Given the description of an element on the screen output the (x, y) to click on. 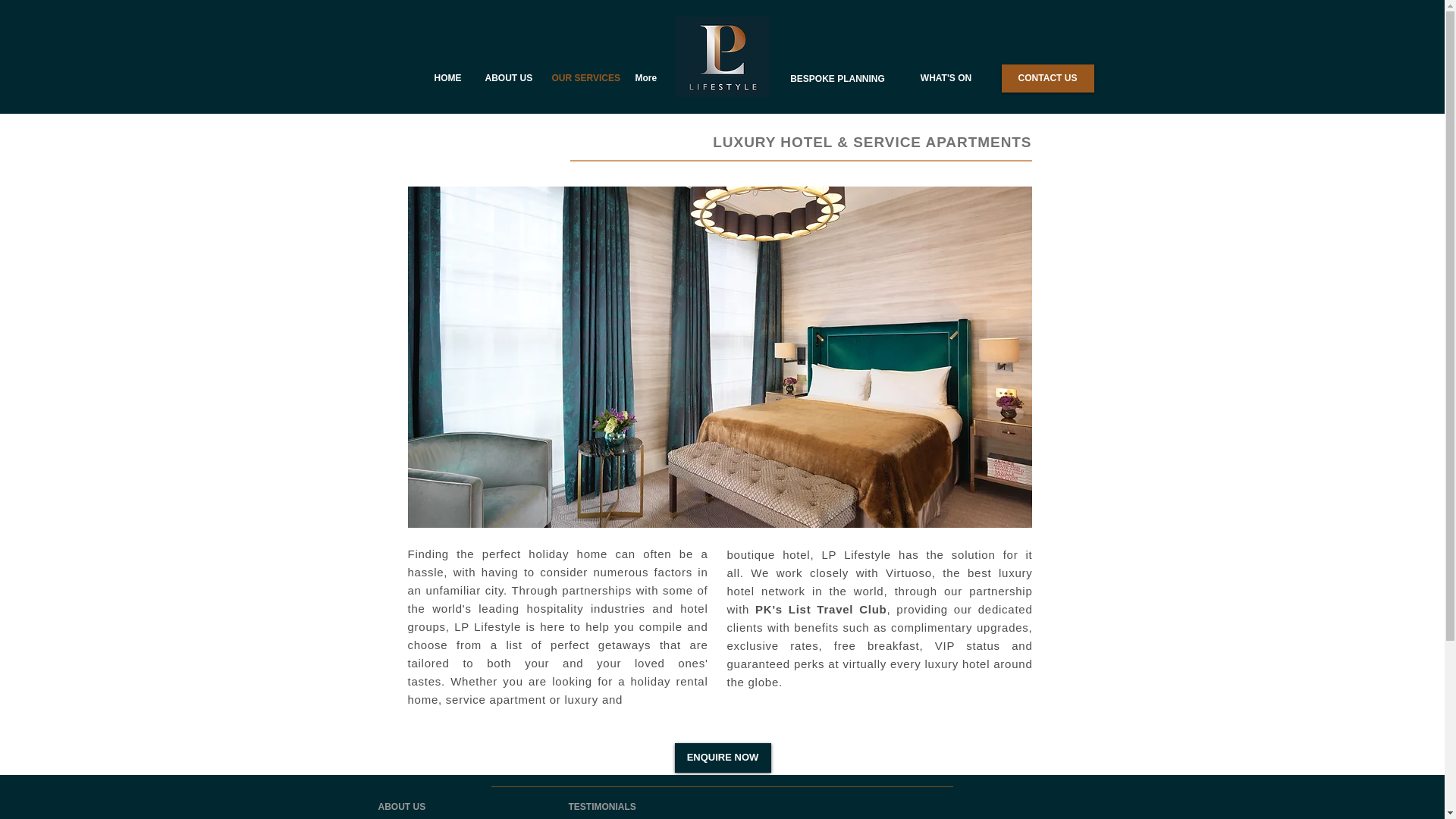
HOME (446, 77)
CONTACT US (1047, 78)
TESTIMONIALS (602, 806)
ENQUIRE NOW (723, 757)
OUR SERVICES (581, 77)
ABOUT US (506, 77)
BESPOKE PLANNING (837, 78)
WHAT'S ON (945, 78)
ABOUT US (401, 806)
PK's List Travel Club (820, 608)
